Given the description of an element on the screen output the (x, y) to click on. 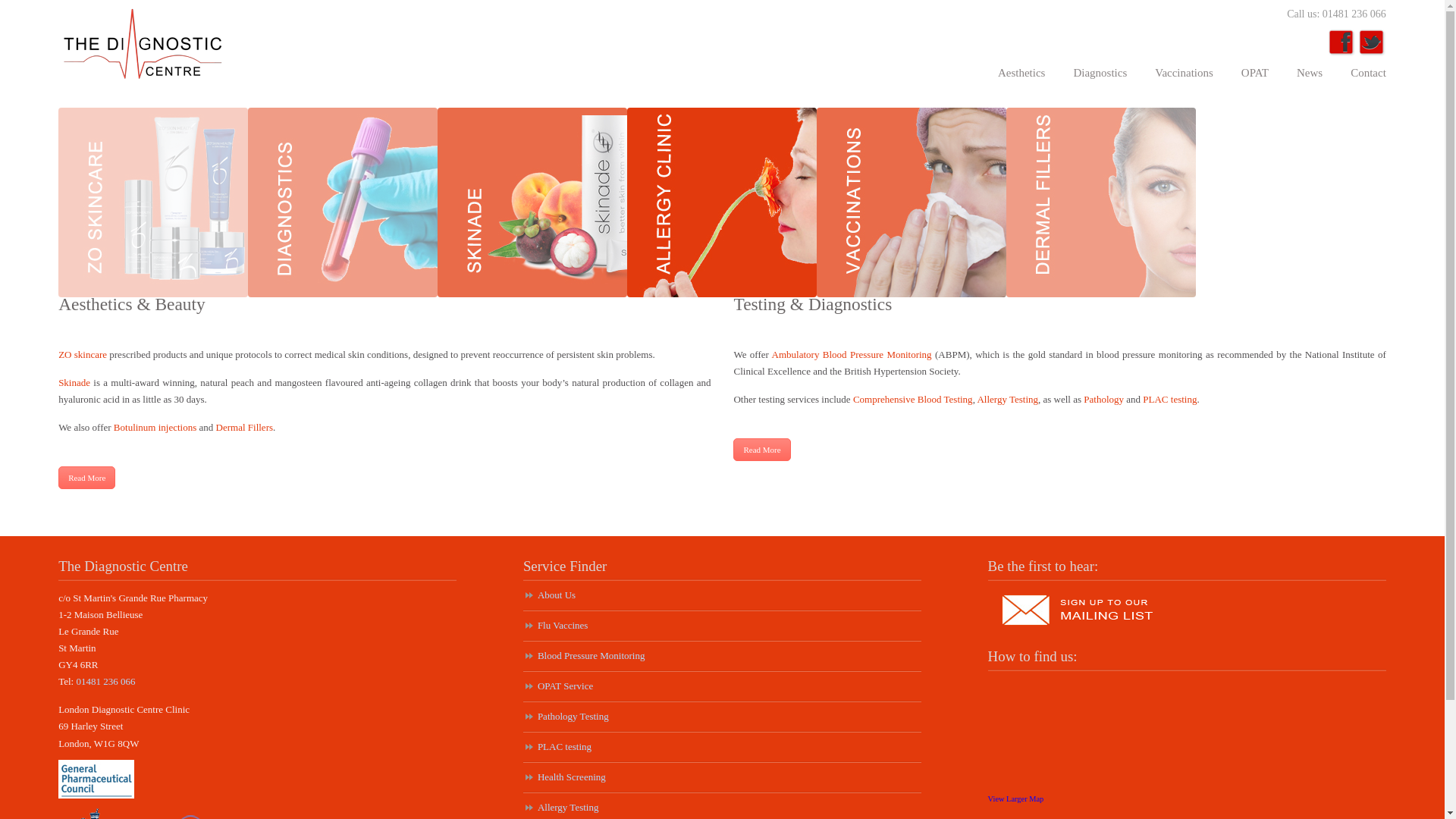
Aesthetics (1020, 72)
Allergy Testing (1007, 398)
Dermal Fillers (244, 427)
Read More (86, 477)
OPAT (1254, 72)
ZO skincare (82, 354)
Skinade (74, 382)
Read More (761, 449)
Botulinum injections (154, 427)
01481 236 066 (105, 681)
PLAC testing (1169, 398)
Ambulatory Blood Pressure Monitoring (851, 354)
The Diagnostic Centre (141, 43)
Diagnostics (1099, 72)
News (1309, 72)
